Given the description of an element on the screen output the (x, y) to click on. 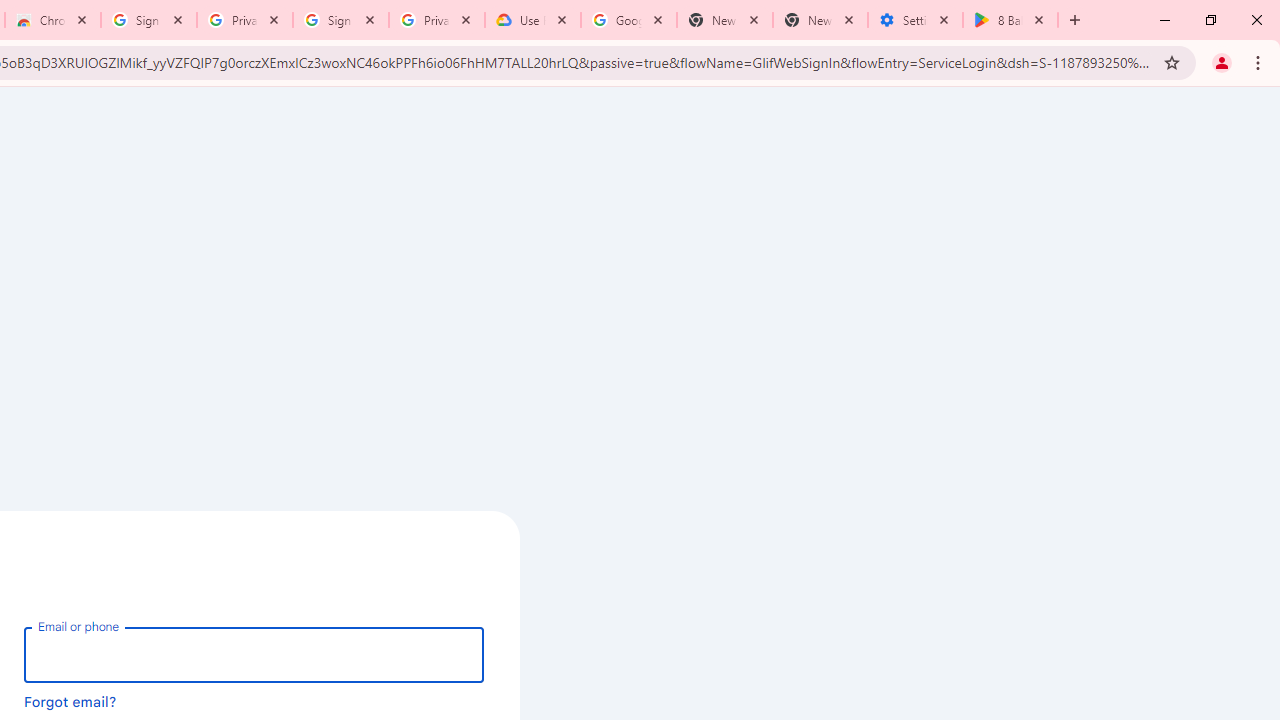
Email or phone (253, 654)
